Given the description of an element on the screen output the (x, y) to click on. 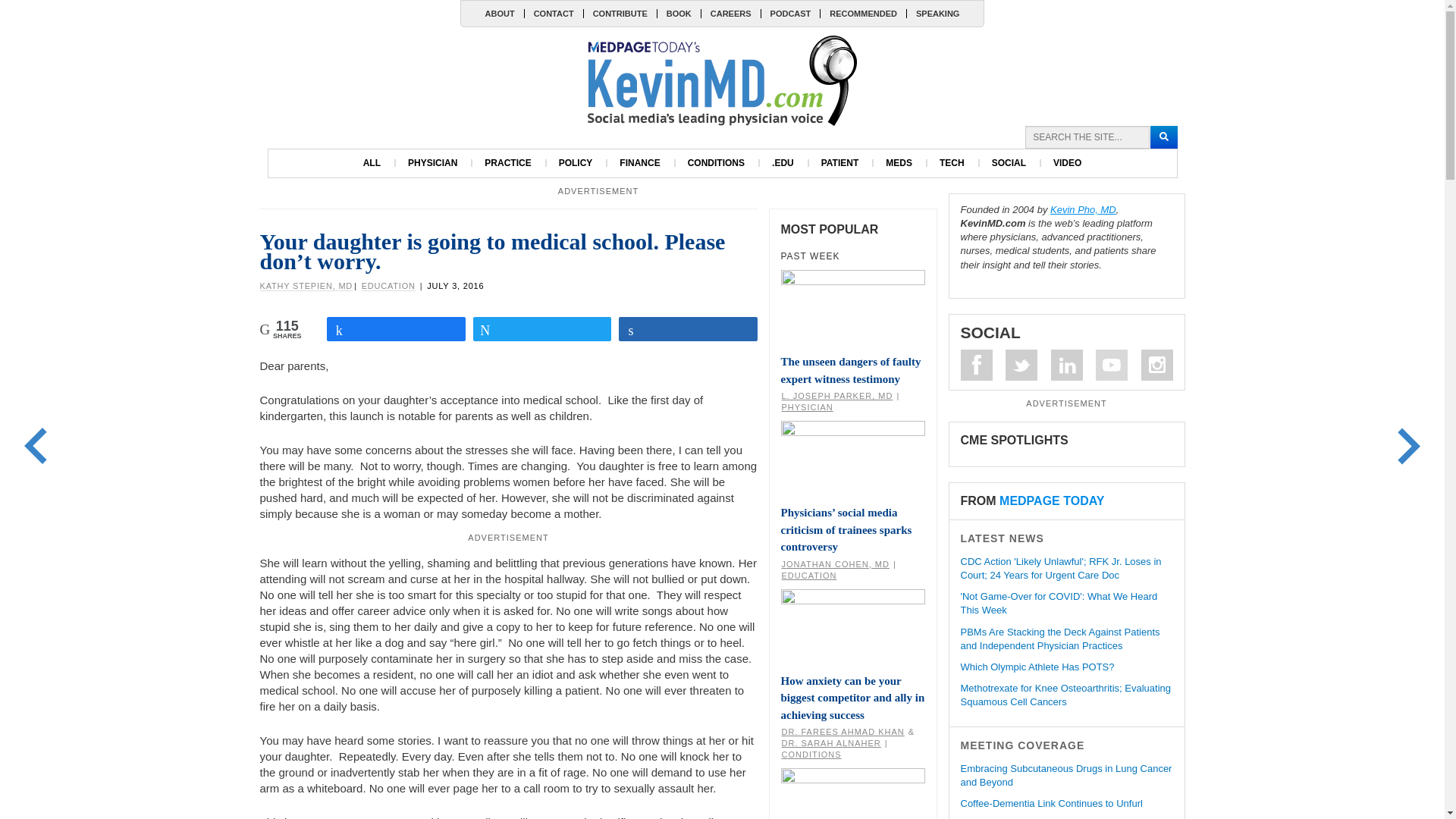
RECOMMENDED (862, 13)
.EDU (783, 163)
ABOUT (500, 13)
FINANCE (638, 163)
CONTACT (553, 13)
SOCIAL (1008, 163)
SPEAKING (936, 13)
PRACTICE (507, 163)
VIDEO (1066, 163)
PATIENT (840, 163)
